Given the description of an element on the screen output the (x, y) to click on. 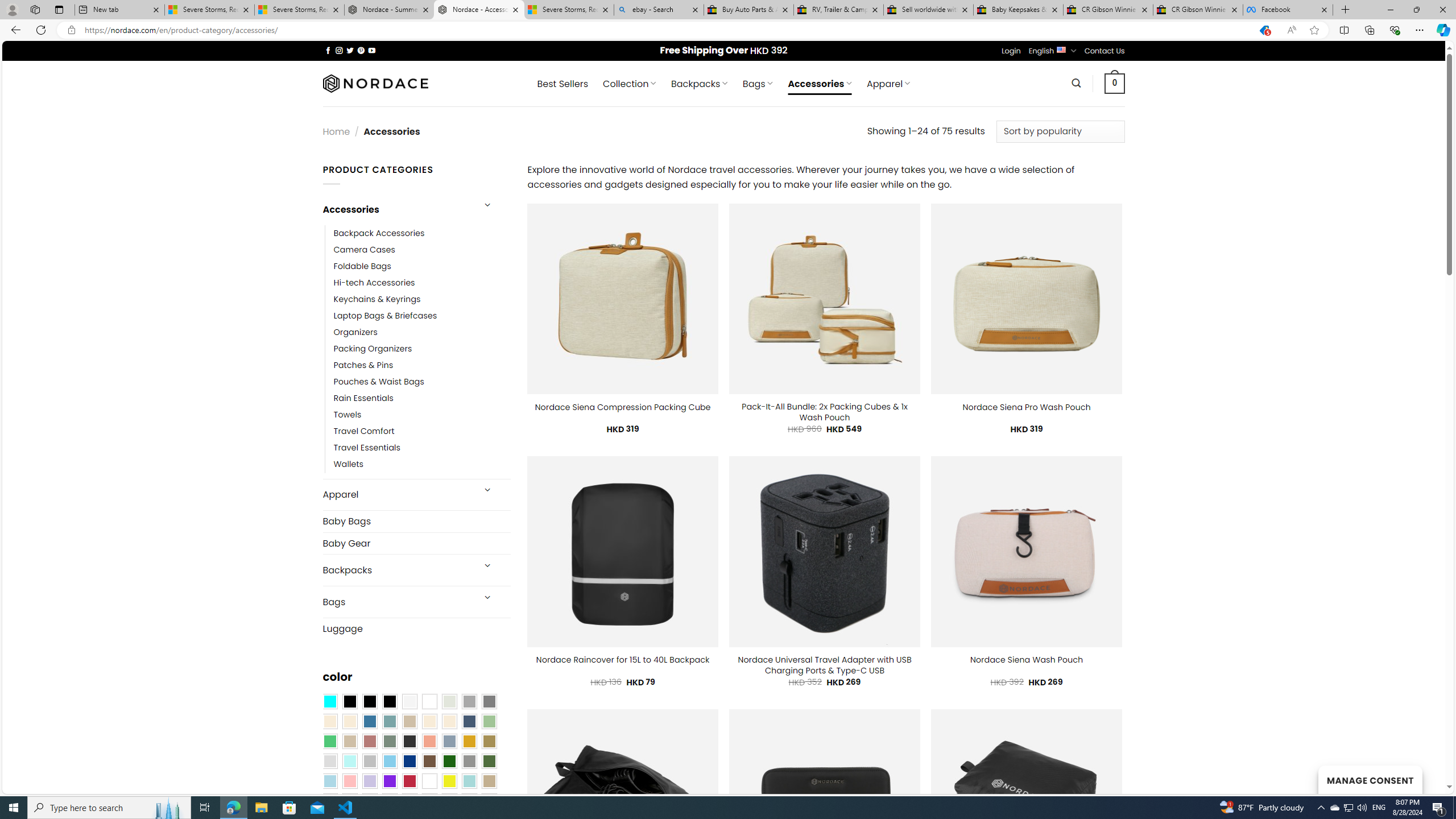
Follow on YouTube (371, 49)
Backpacks (397, 570)
Gray (468, 761)
Emerald Green (329, 741)
Travel Comfort (363, 431)
Backpack Accessories (379, 232)
ebay - Search (658, 9)
White (429, 780)
Silver (369, 761)
Coral (429, 741)
Sell worldwide with eBay (928, 9)
